Given the description of an element on the screen output the (x, y) to click on. 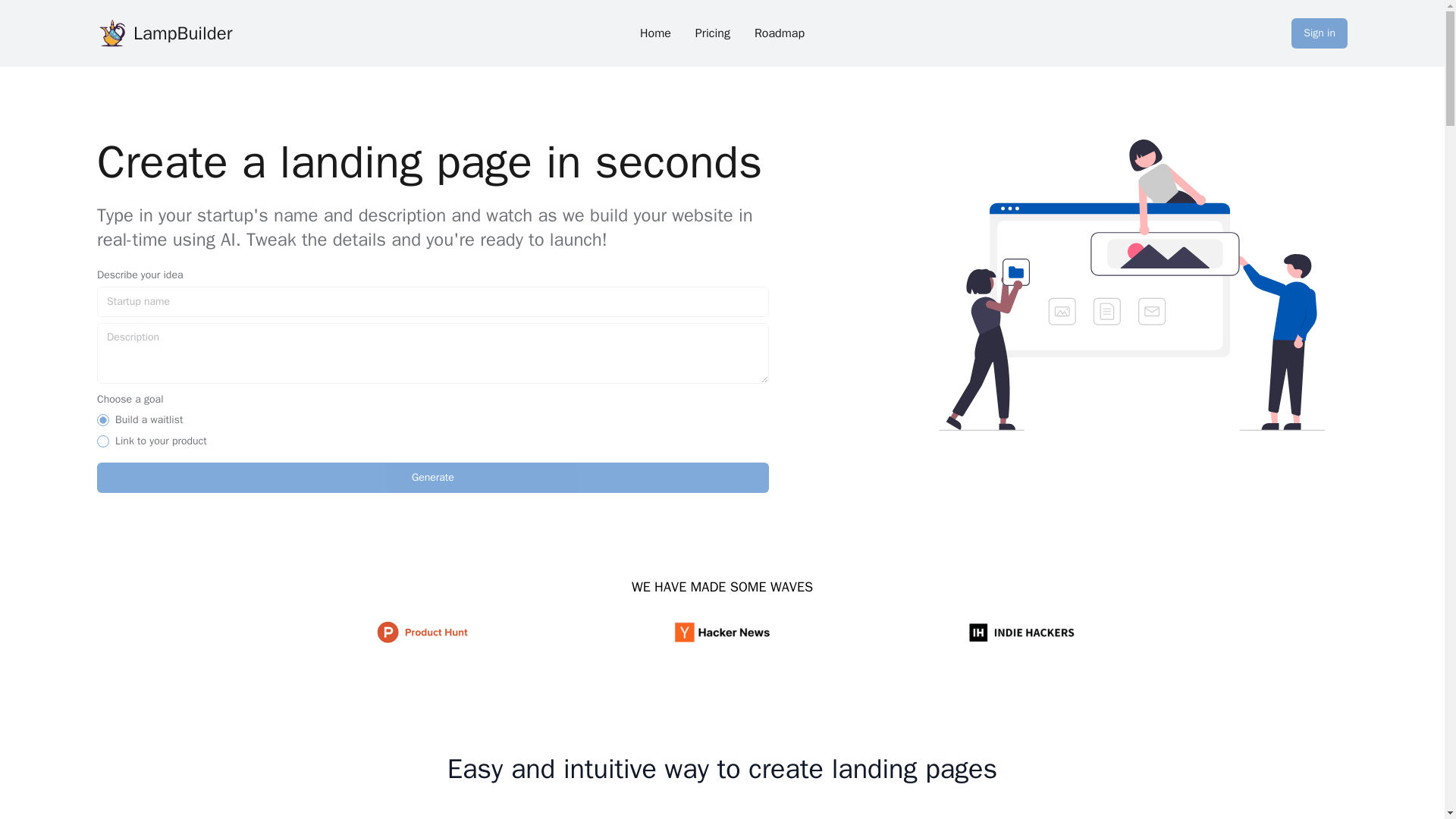
Generate (432, 477)
Home (655, 32)
launched (103, 440)
LampBuilder (179, 33)
Pricing (712, 32)
Roadmap (779, 32)
LampBuilder (112, 33)
Sign in (1319, 33)
